Given the description of an element on the screen output the (x, y) to click on. 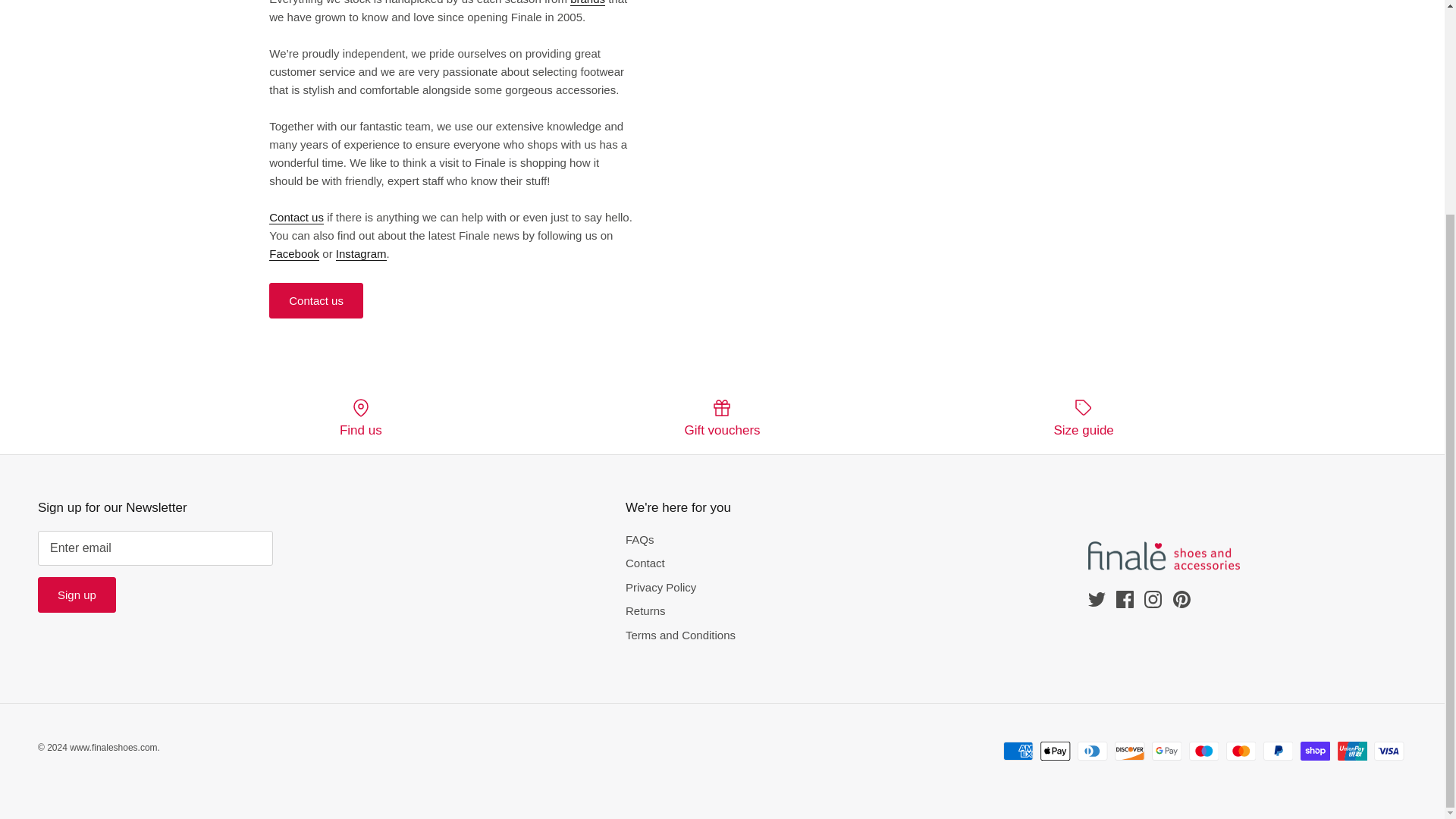
Label (1083, 407)
Facebook (293, 254)
Instagram (1152, 599)
Maestro (1203, 751)
Contact (296, 217)
Discover (1129, 751)
Twitter (361, 254)
Mastercard (1240, 751)
American Express (1018, 751)
Pinterest (1180, 599)
